Given the description of an element on the screen output the (x, y) to click on. 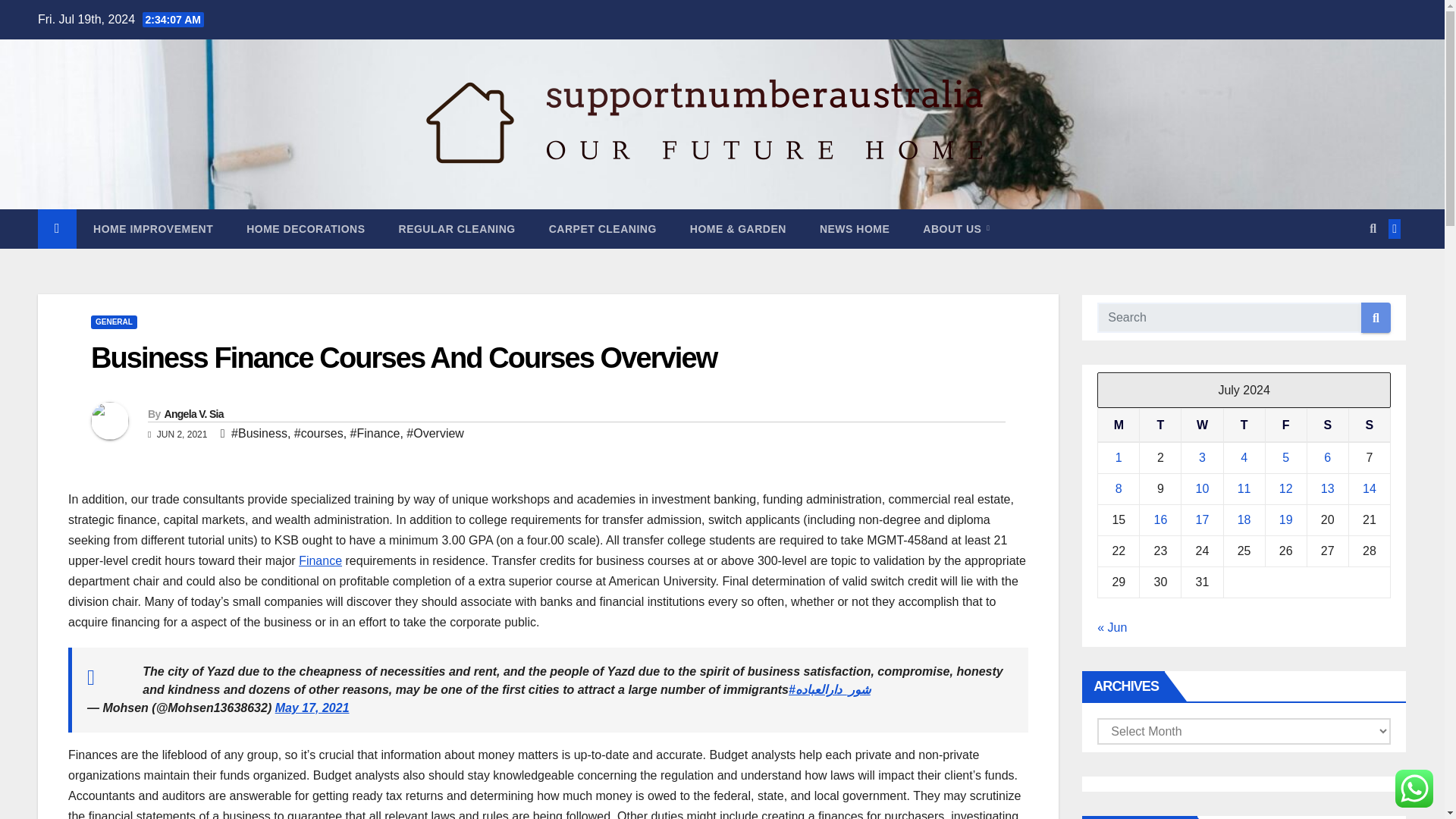
HOME IMPROVEMENT (153, 228)
REGULAR CLEANING (456, 228)
HOME DECORATIONS (305, 228)
Business Finance Courses And Courses Overview (403, 357)
Home Decorations (305, 228)
Finance (320, 560)
May 17, 2021 (312, 707)
News Home (854, 228)
Regular Cleaning (456, 228)
CARPET CLEANING (602, 228)
ABOUT US (955, 228)
Angela V. Sia (192, 413)
Permalink to: Business Finance Courses And Courses Overview (403, 357)
GENERAL (113, 322)
About Us (955, 228)
